Given the description of an element on the screen output the (x, y) to click on. 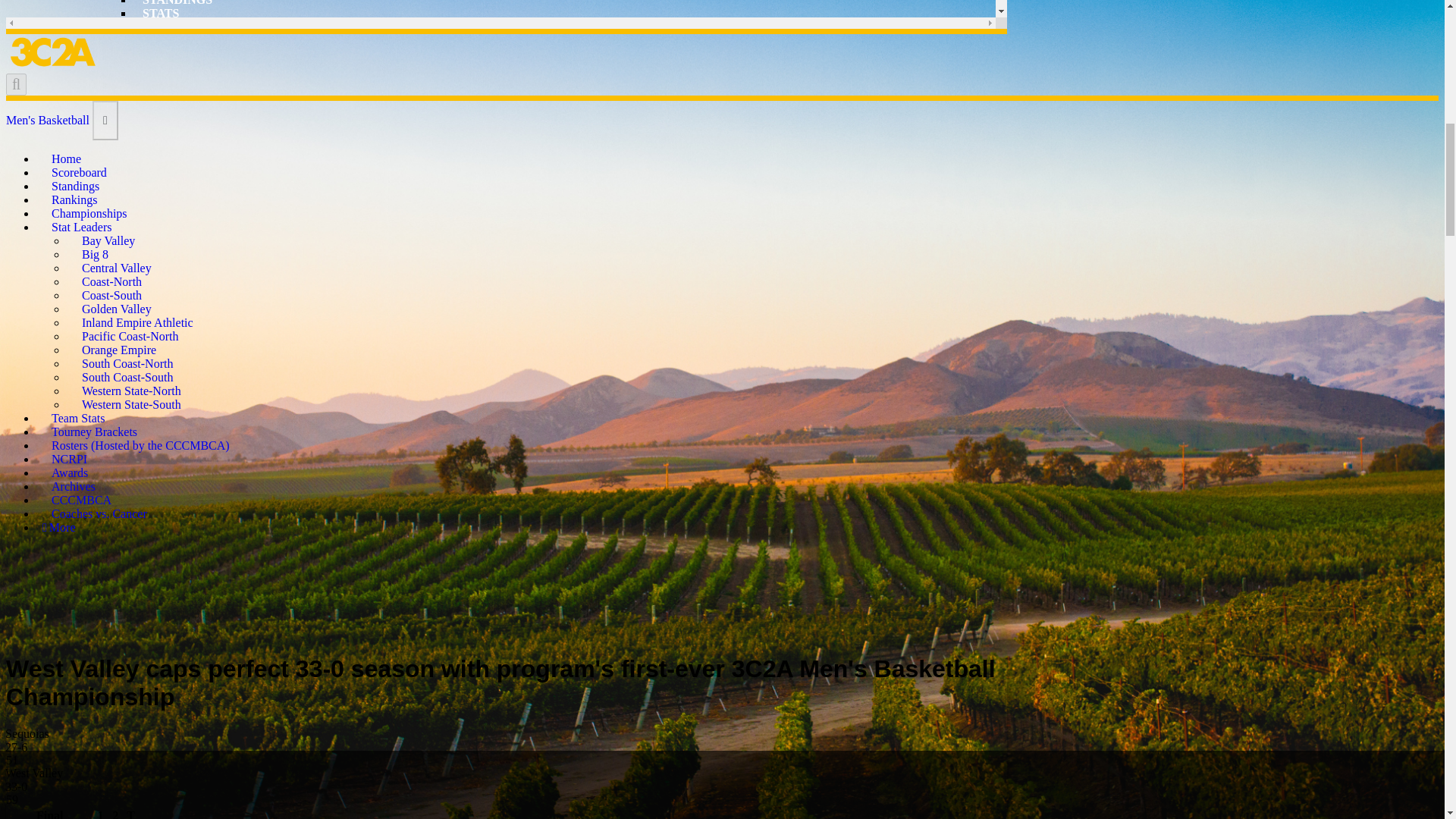
3rd party ad content (722, 592)
